Given the description of an element on the screen output the (x, y) to click on. 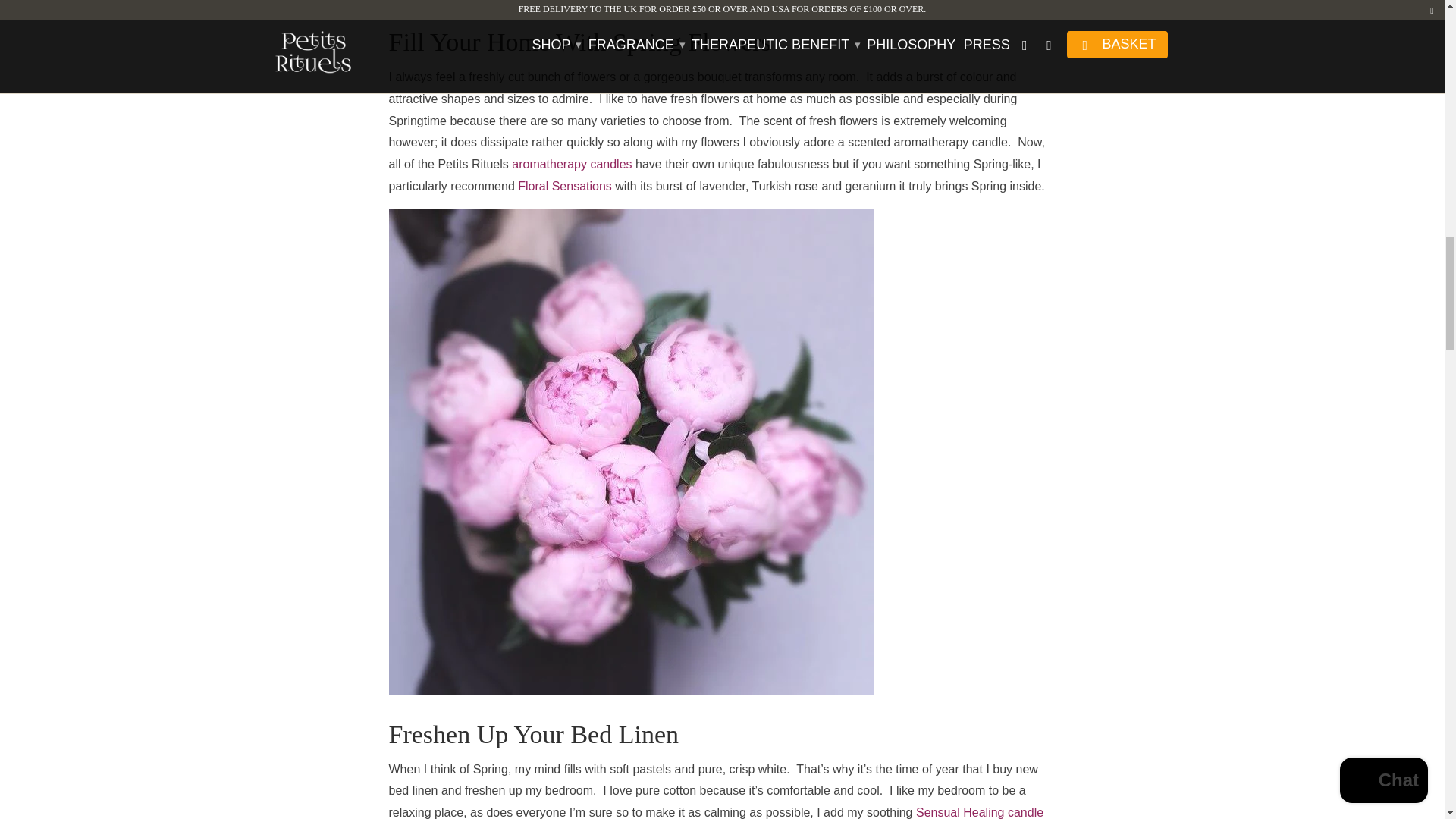
Floral Sensations aromatherapy candle (564, 185)
Aromatherapy candles (571, 164)
Sensual Healing candle (979, 812)
